Given the description of an element on the screen output the (x, y) to click on. 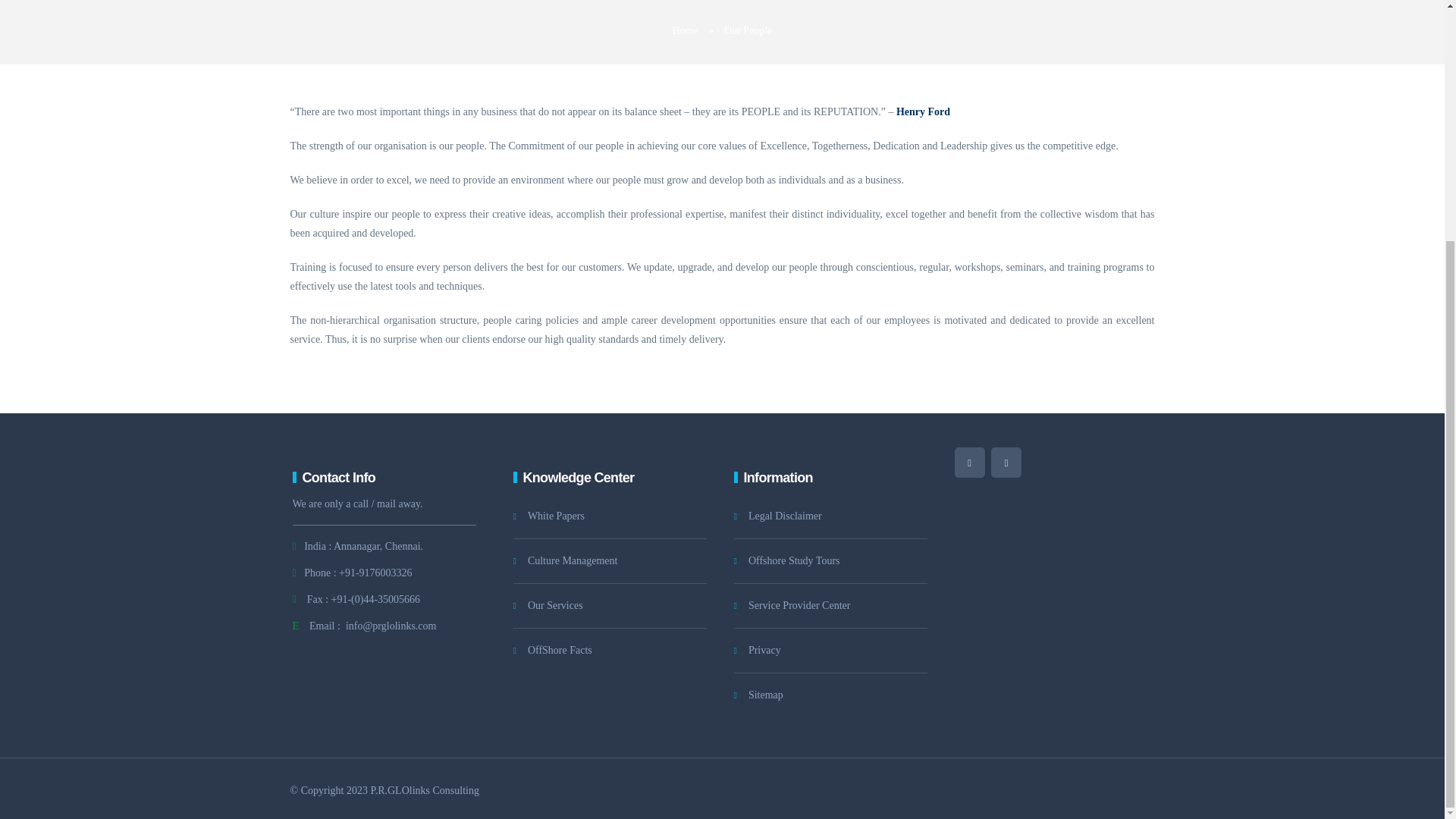
Follow Us on Facebook (968, 462)
Follow Us on Linkedin (1006, 462)
